Given the description of an element on the screen output the (x, y) to click on. 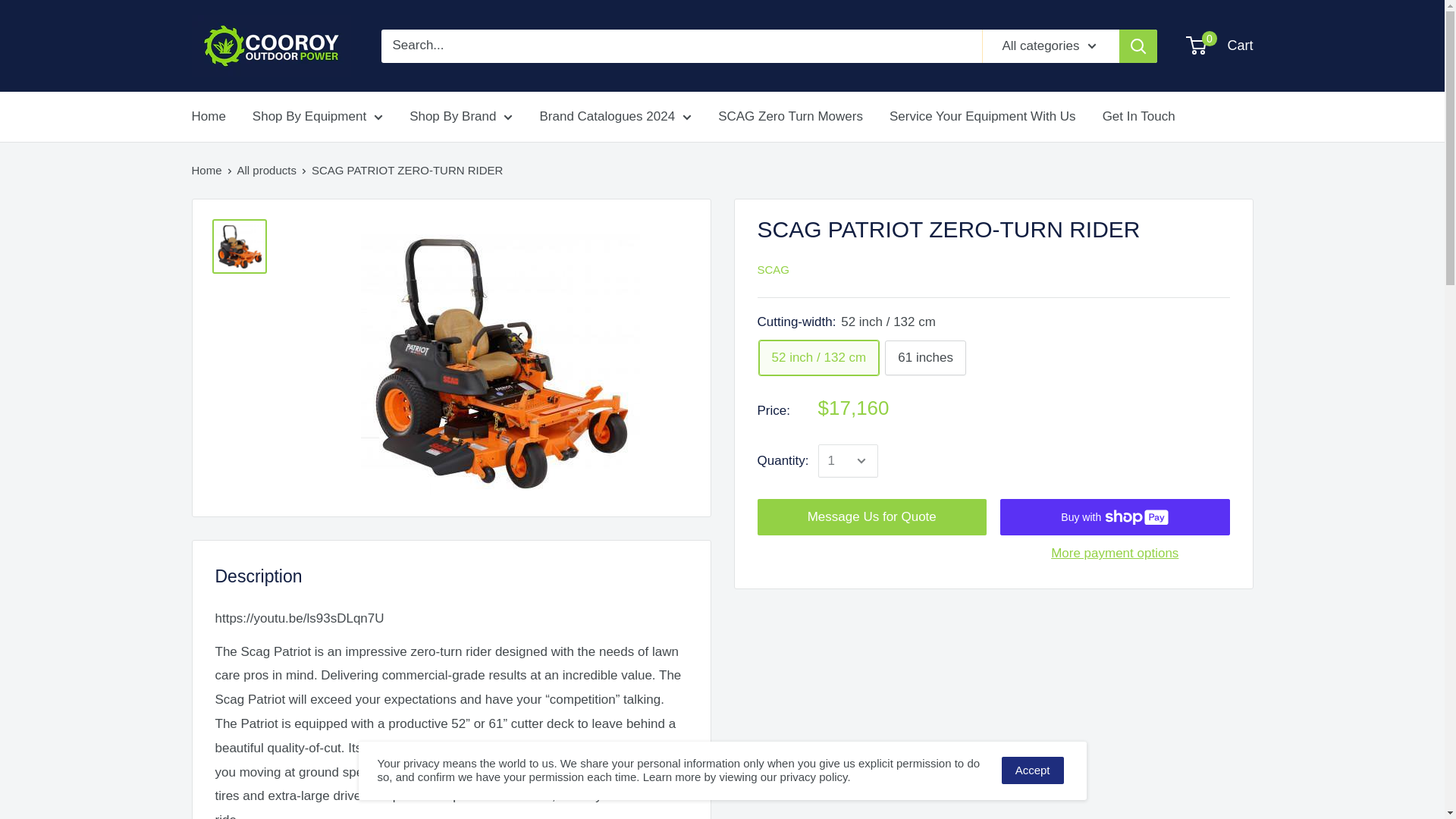
61 inches (925, 357)
